Given the description of an element on the screen output the (x, y) to click on. 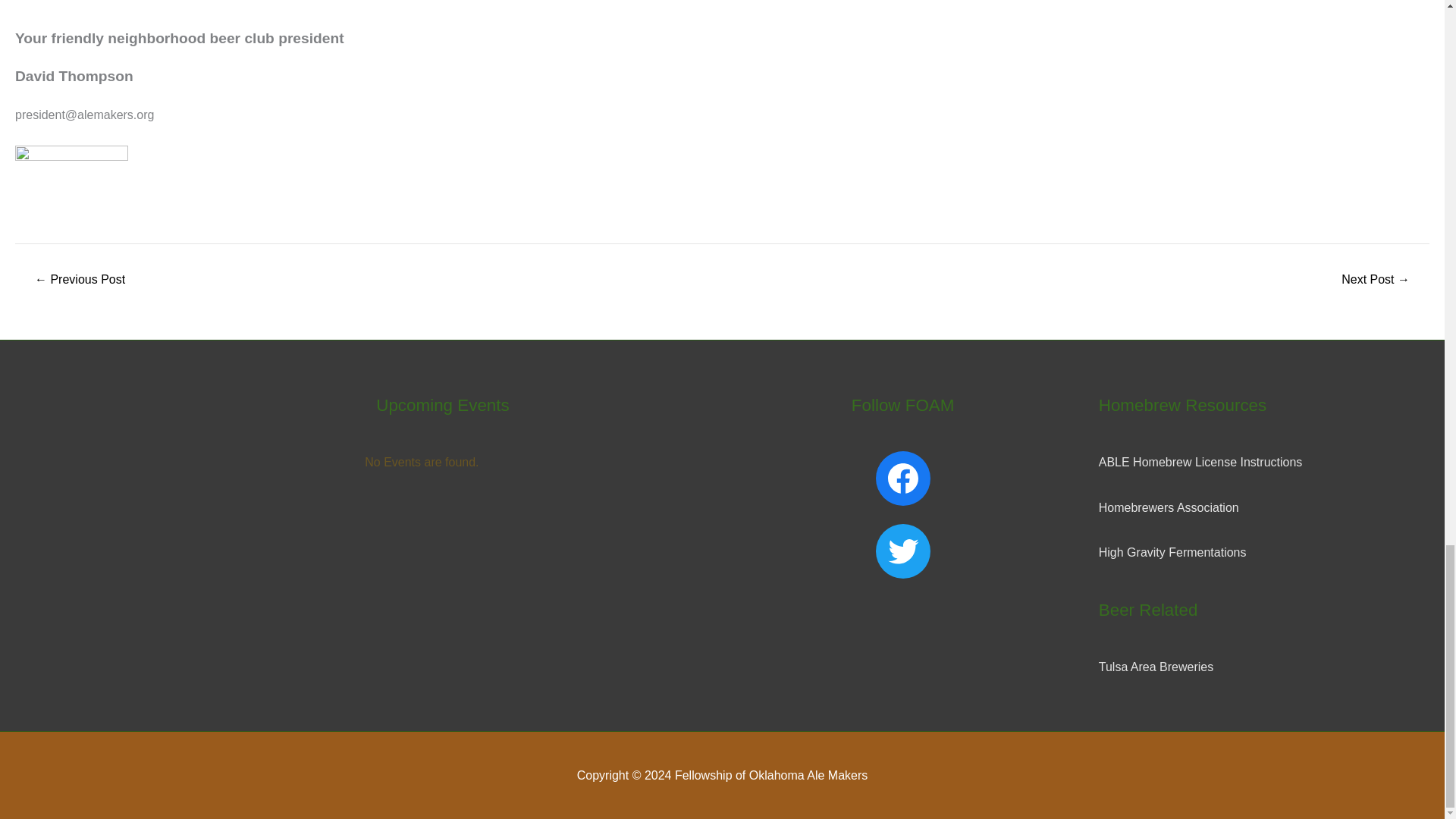
January Officer Meeting Minutes (1375, 279)
